Given the description of an element on the screen output the (x, y) to click on. 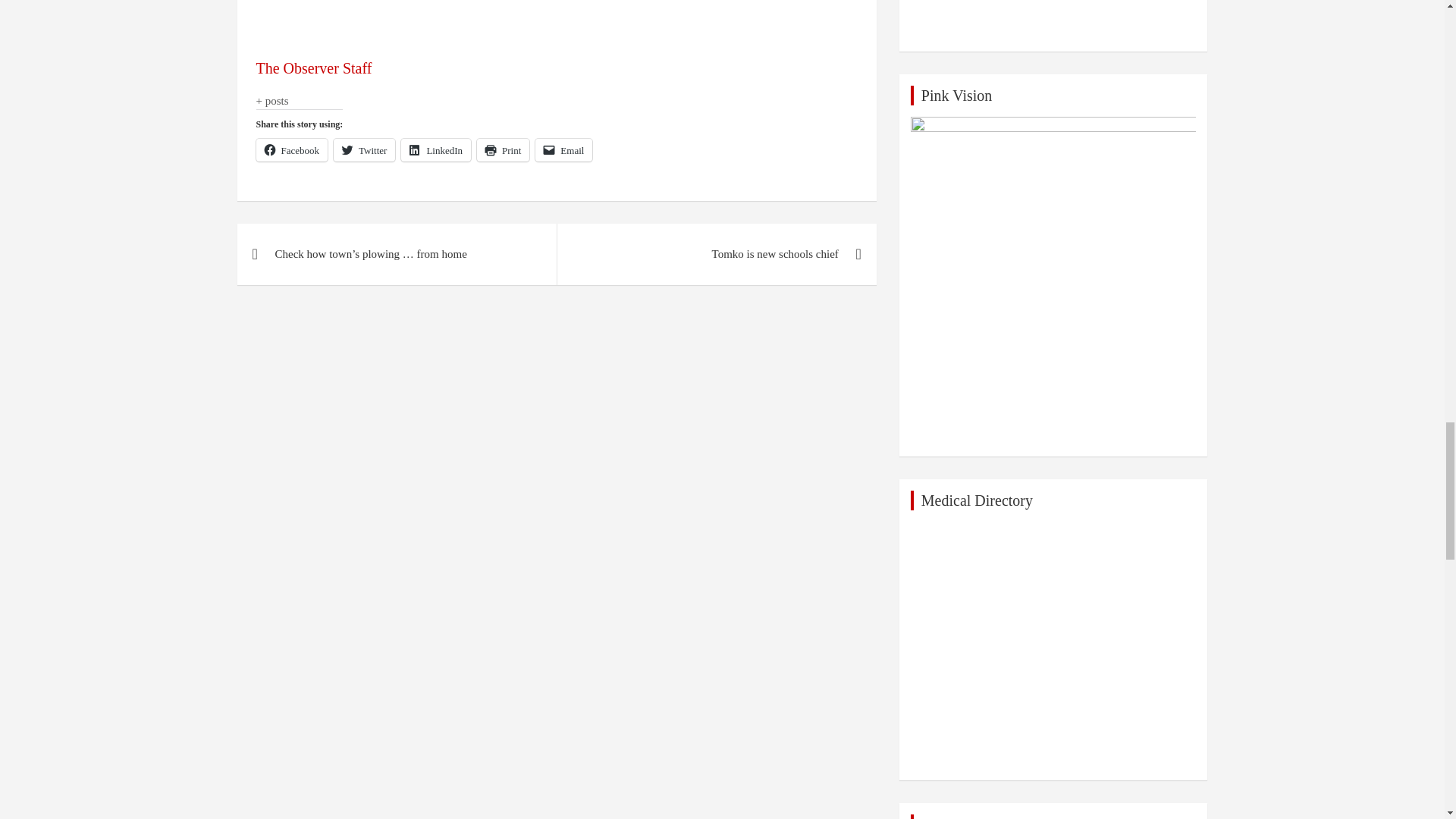
Click to email a link to a friend (563, 149)
Click to share on LinkedIn (435, 149)
Click to share on Twitter (363, 149)
Click to share on Facebook (292, 149)
Click to print (503, 149)
